Given the description of an element on the screen output the (x, y) to click on. 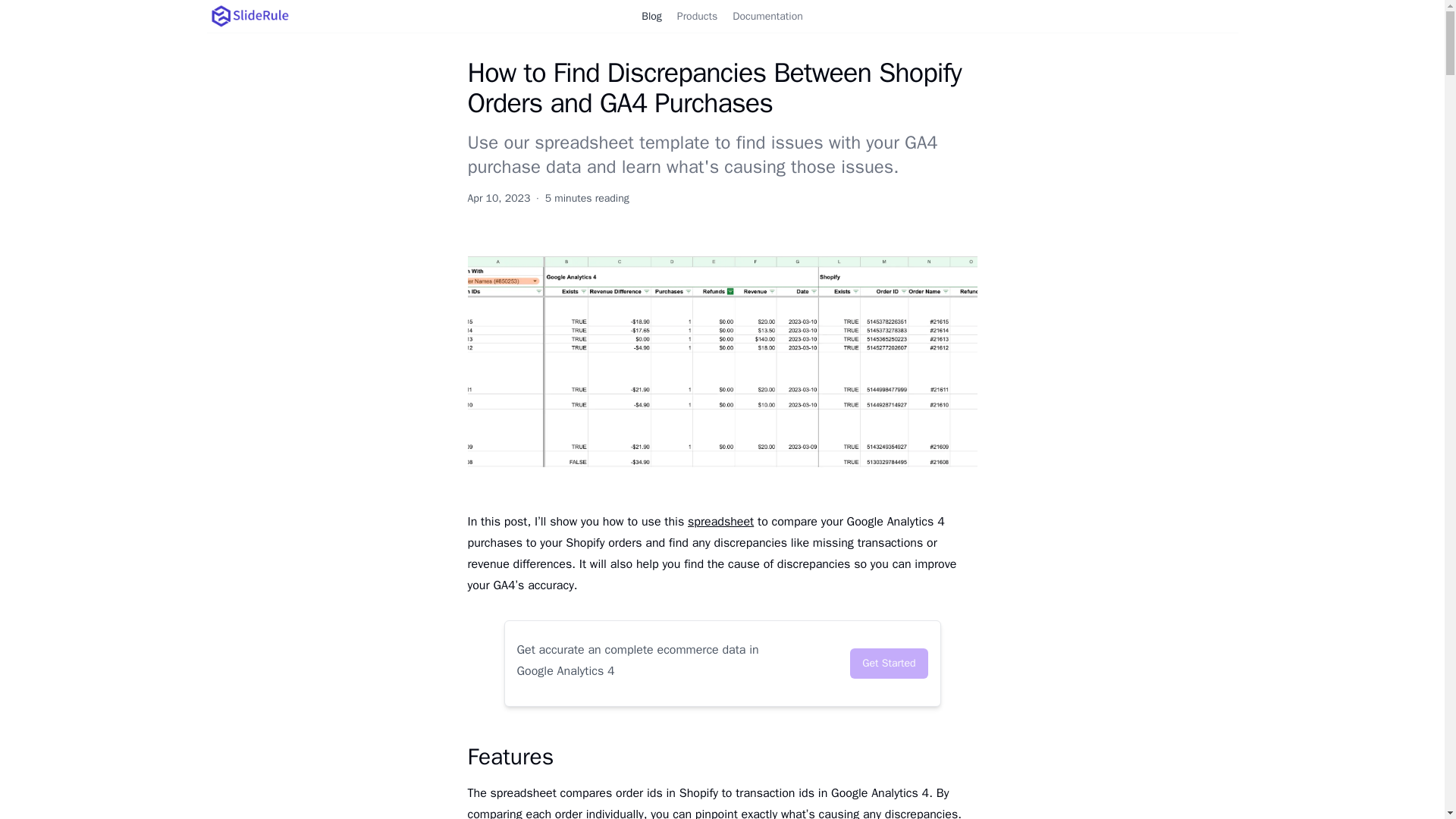
spreadsheet (720, 521)
Get Started (888, 663)
Products (697, 16)
Documentation (767, 16)
Blog (651, 16)
